Given the description of an element on the screen output the (x, y) to click on. 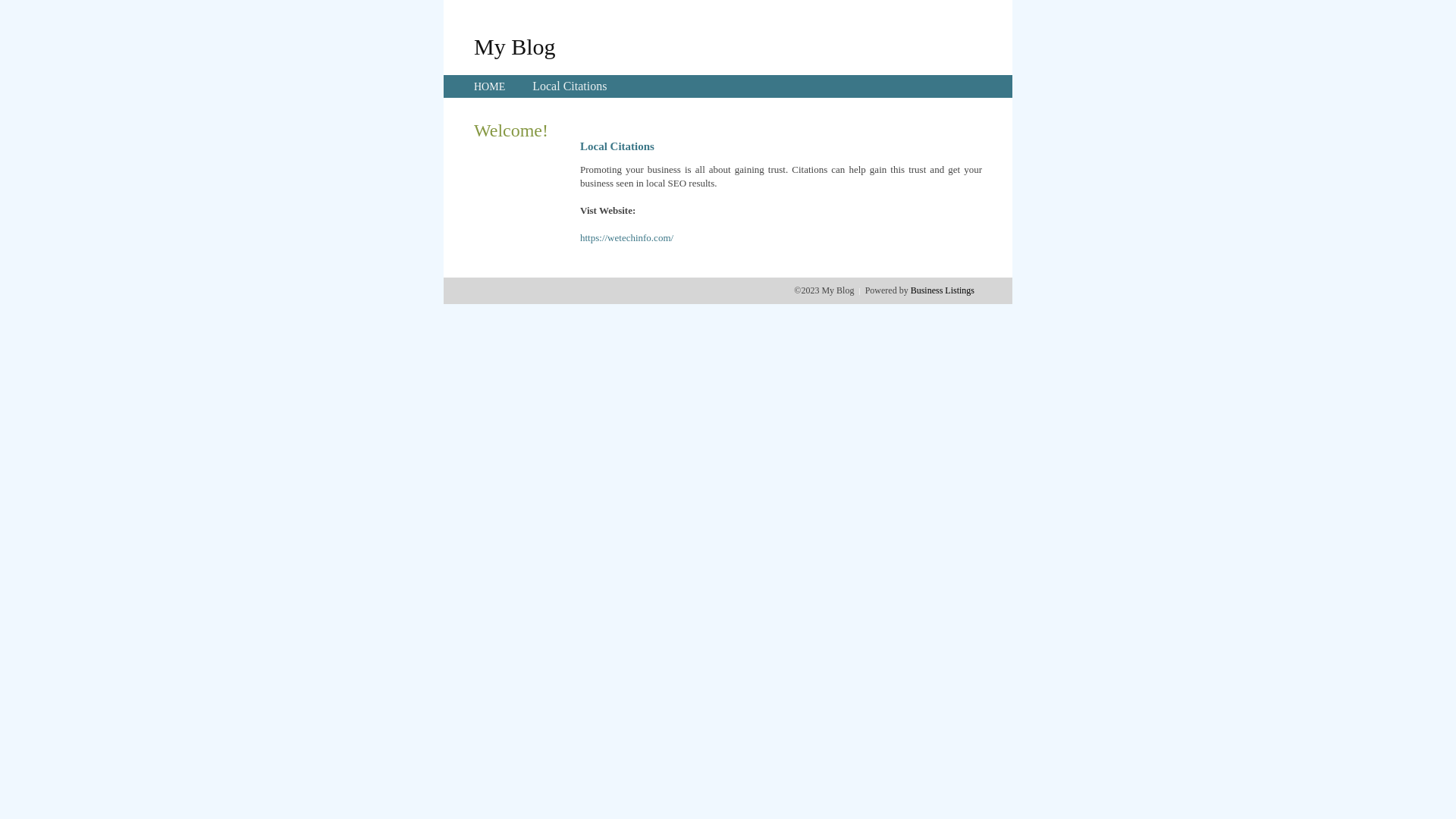
https://wetechinfo.com/ Element type: text (626, 237)
HOME Element type: text (489, 86)
Local Citations Element type: text (569, 85)
My Blog Element type: text (514, 46)
Business Listings Element type: text (942, 290)
